Given the description of an element on the screen output the (x, y) to click on. 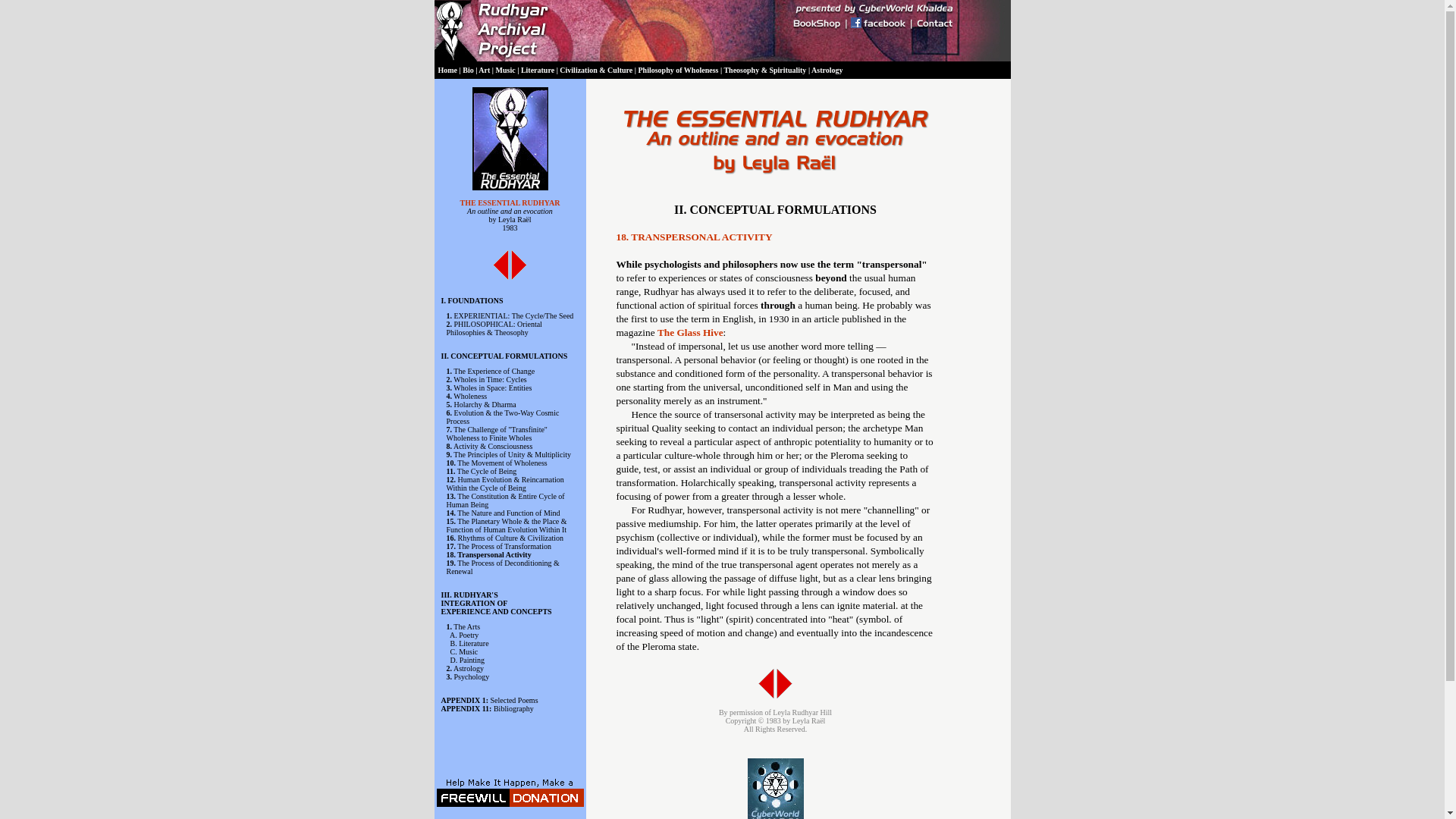
Astrology (826, 70)
The Experience of Change (493, 370)
Philosophy of Wholeness (677, 70)
The Nature and Function of Mind (508, 512)
Selected Poems (513, 700)
The Arts (466, 626)
Psychology (470, 676)
The Glass Hive (690, 332)
Wholeness (469, 396)
Music (505, 70)
A. Poetry (464, 634)
C. Music (464, 651)
The Cycle of Being (486, 470)
The Movement of Wholeness (502, 462)
B. Literature (469, 643)
